Given the description of an element on the screen output the (x, y) to click on. 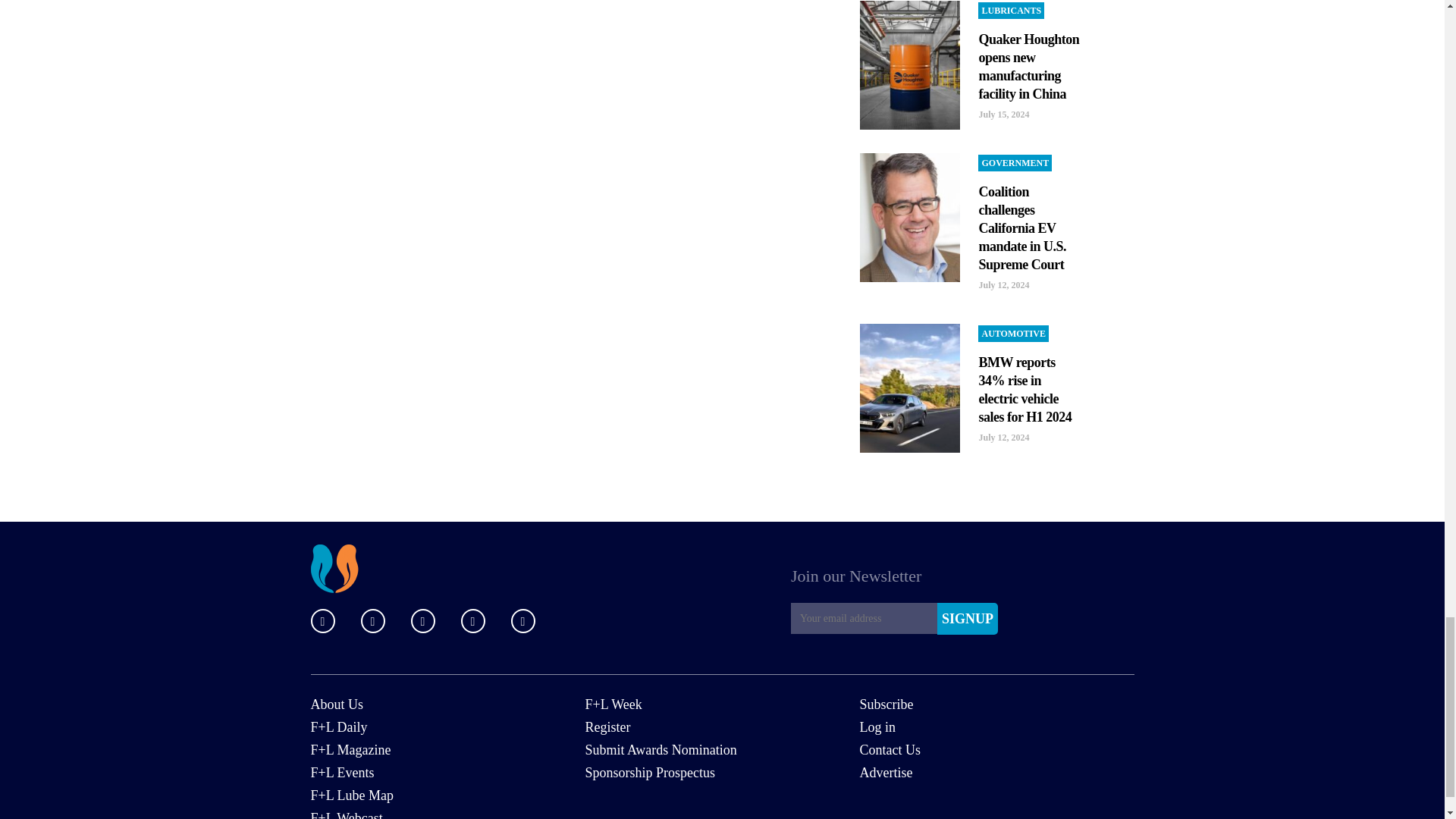
SIGNUP (967, 618)
